Given the description of an element on the screen output the (x, y) to click on. 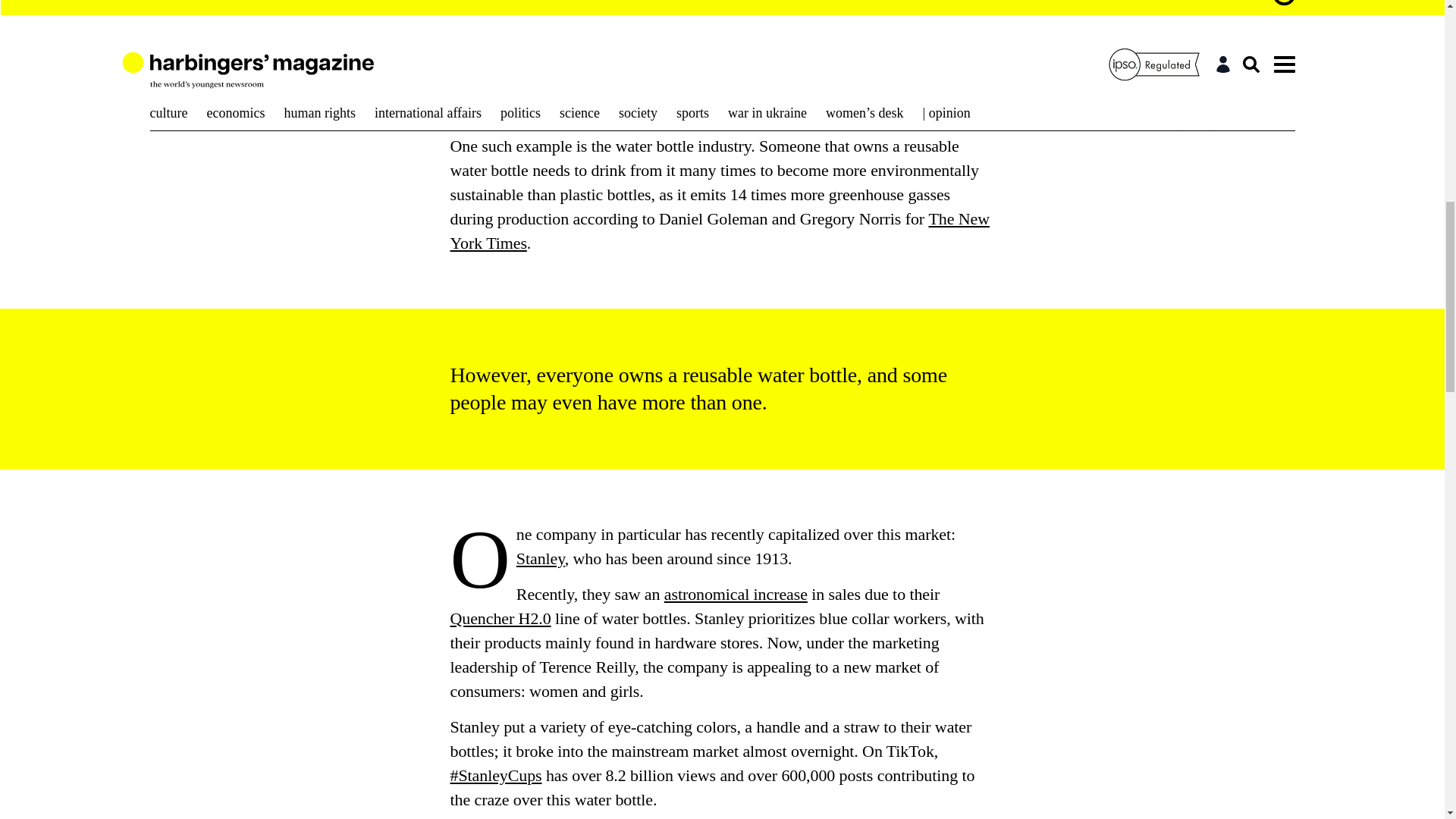
Stanley (540, 558)
astronomical increase (735, 593)
2024 edition of the Global Resources Outlook (716, 36)
The New York Times (719, 230)
Scientific American (514, 5)
